Given the description of an element on the screen output the (x, y) to click on. 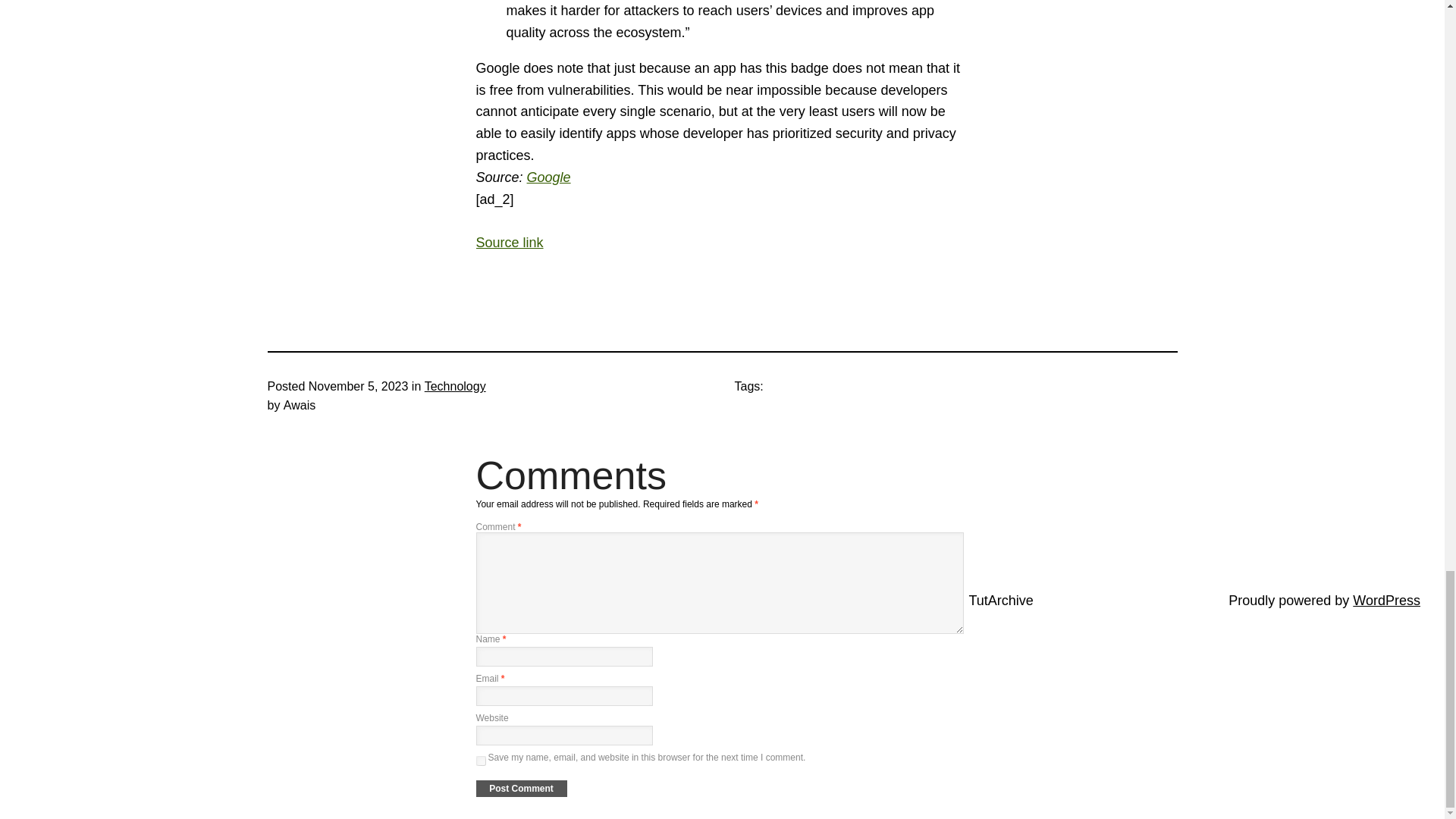
Source link (509, 242)
yes (481, 760)
Post Comment (521, 788)
Technology (455, 386)
WordPress (1386, 600)
TutArchive (1001, 600)
Google (548, 177)
Post Comment (521, 788)
